Given the description of an element on the screen output the (x, y) to click on. 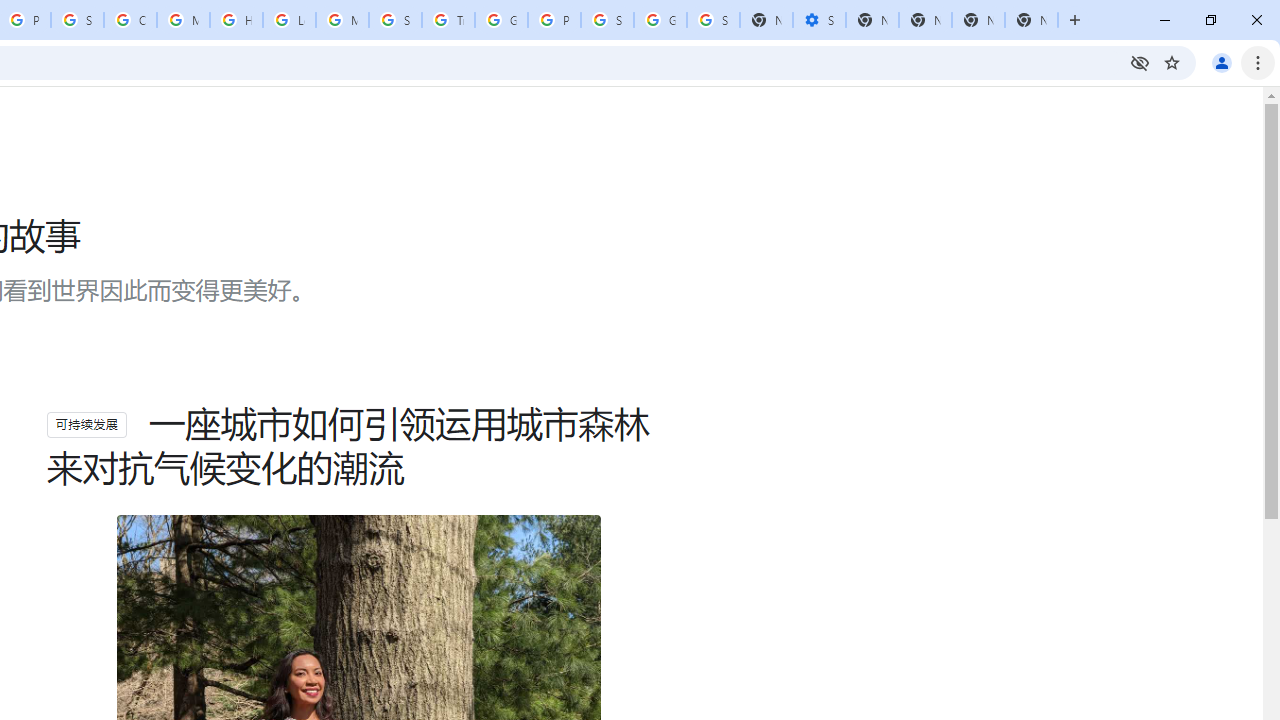
Search our Doodle Library Collection - Google Doodles (395, 20)
New Tab (1031, 20)
Settings - Performance (819, 20)
Third-party cookies blocked (1139, 62)
Sign in - Google Accounts (77, 20)
Google Cybersecurity Innovations - Google Safety Center (660, 20)
